Given the description of an element on the screen output the (x, y) to click on. 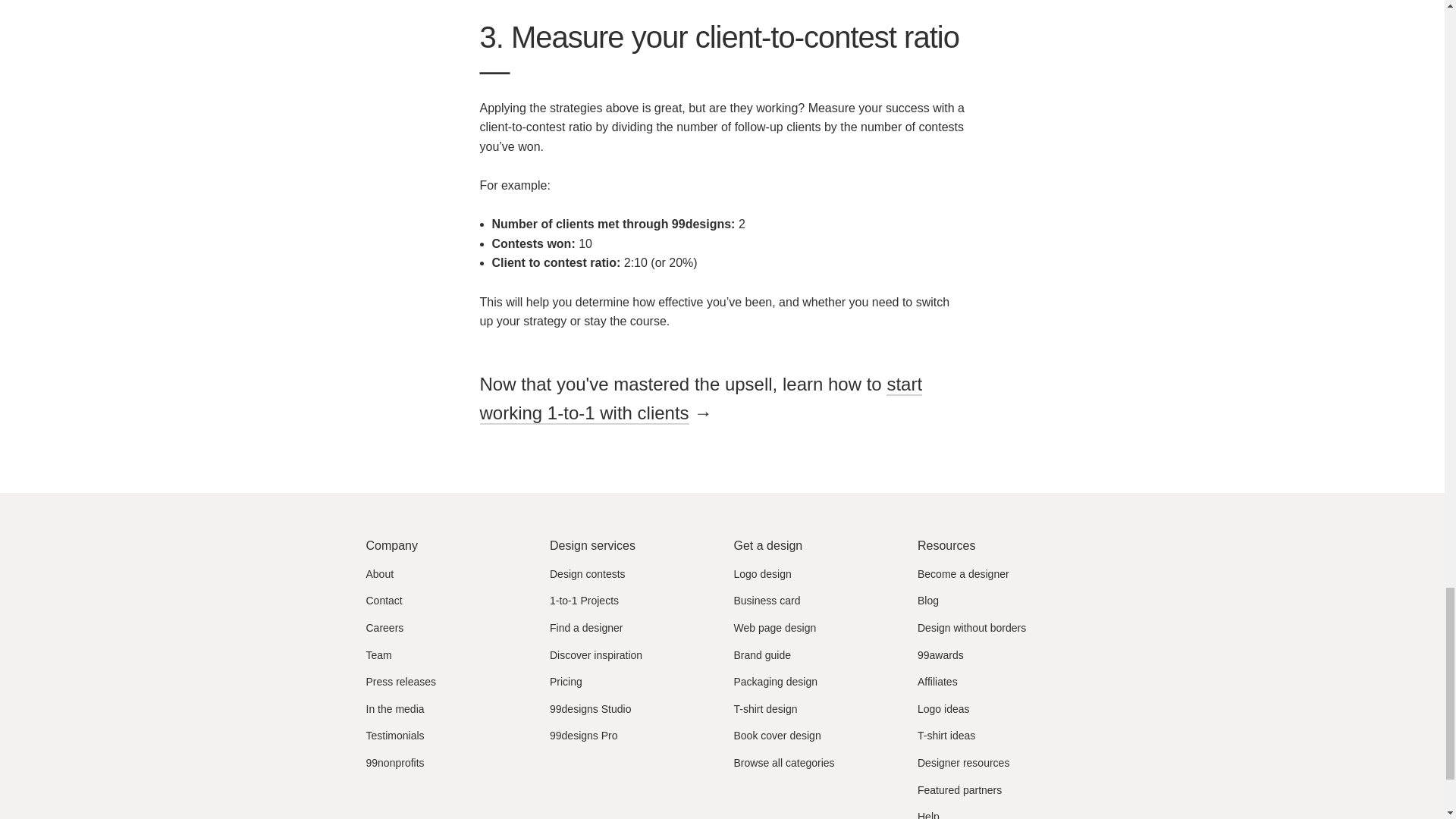
Web page design (774, 628)
Team (378, 655)
Business card (766, 601)
Discover inspiration (596, 655)
Careers (384, 628)
Find a designer (586, 628)
Design contests (588, 574)
Packaging design (775, 682)
Brand guide (762, 655)
About (379, 574)
